Given the description of an element on the screen output the (x, y) to click on. 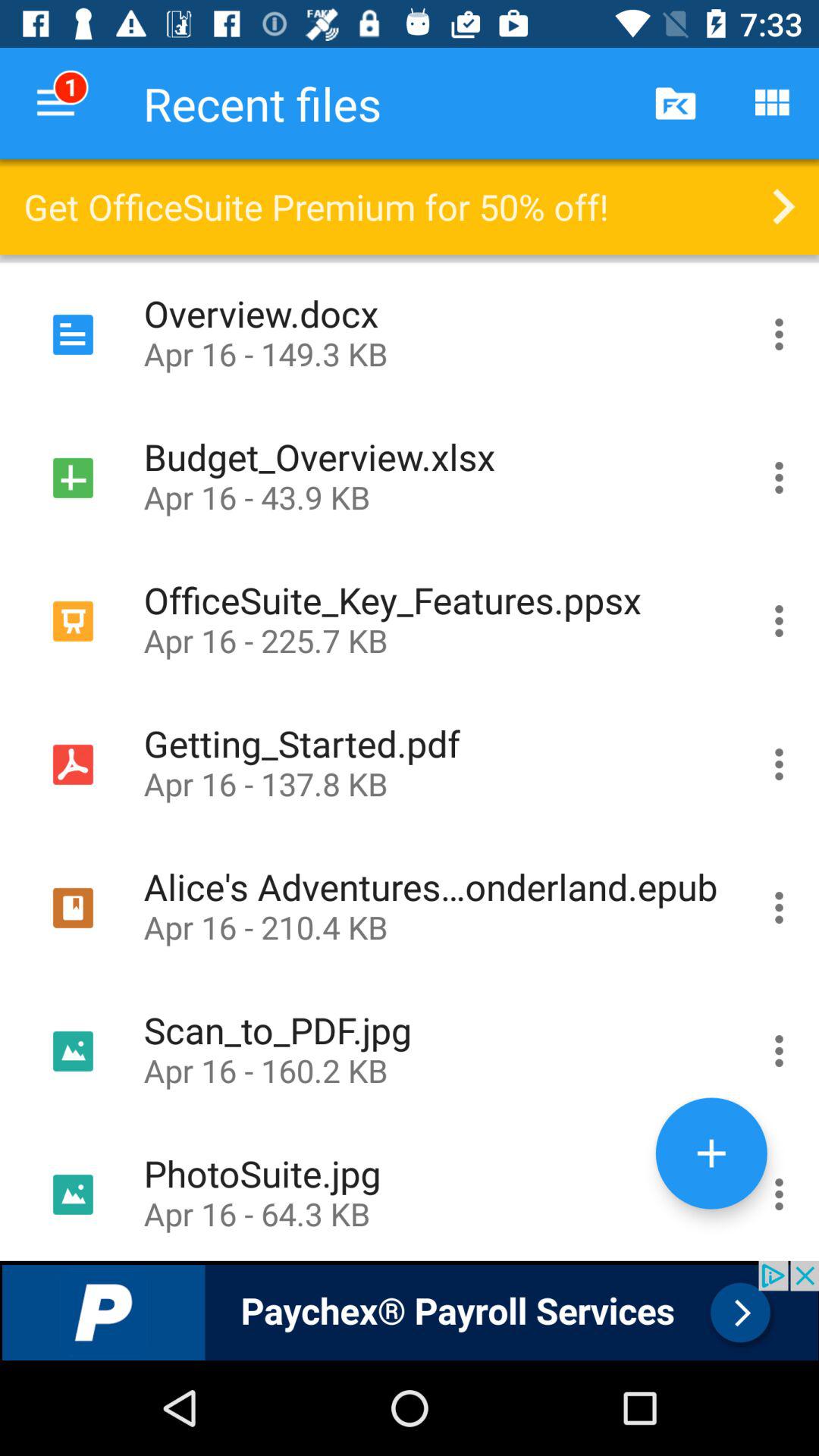
select the share button (779, 1050)
